Given the description of an element on the screen output the (x, y) to click on. 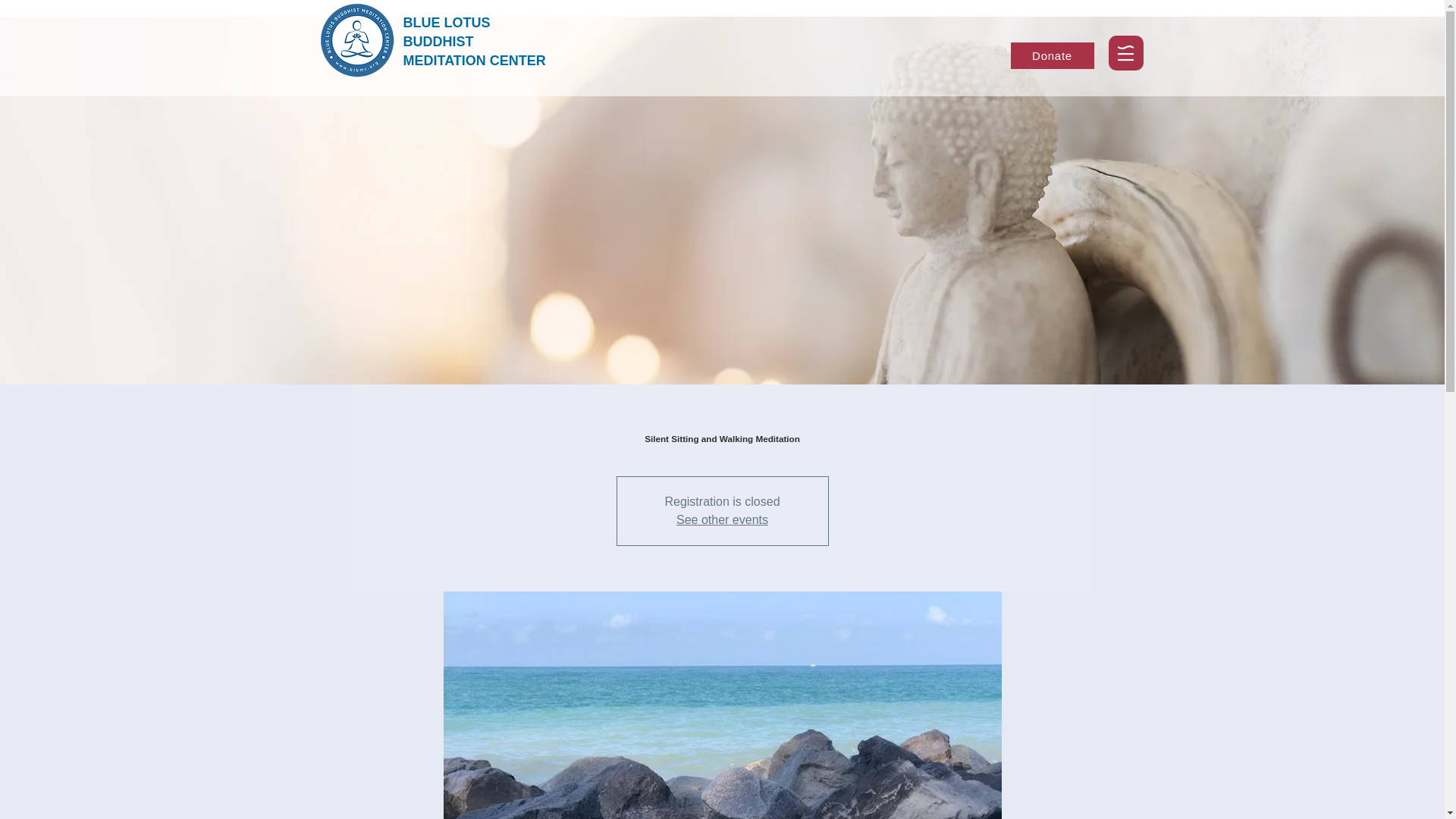
logo.png (357, 39)
See other events (722, 519)
Donate (1051, 55)
